Given the description of an element on the screen output the (x, y) to click on. 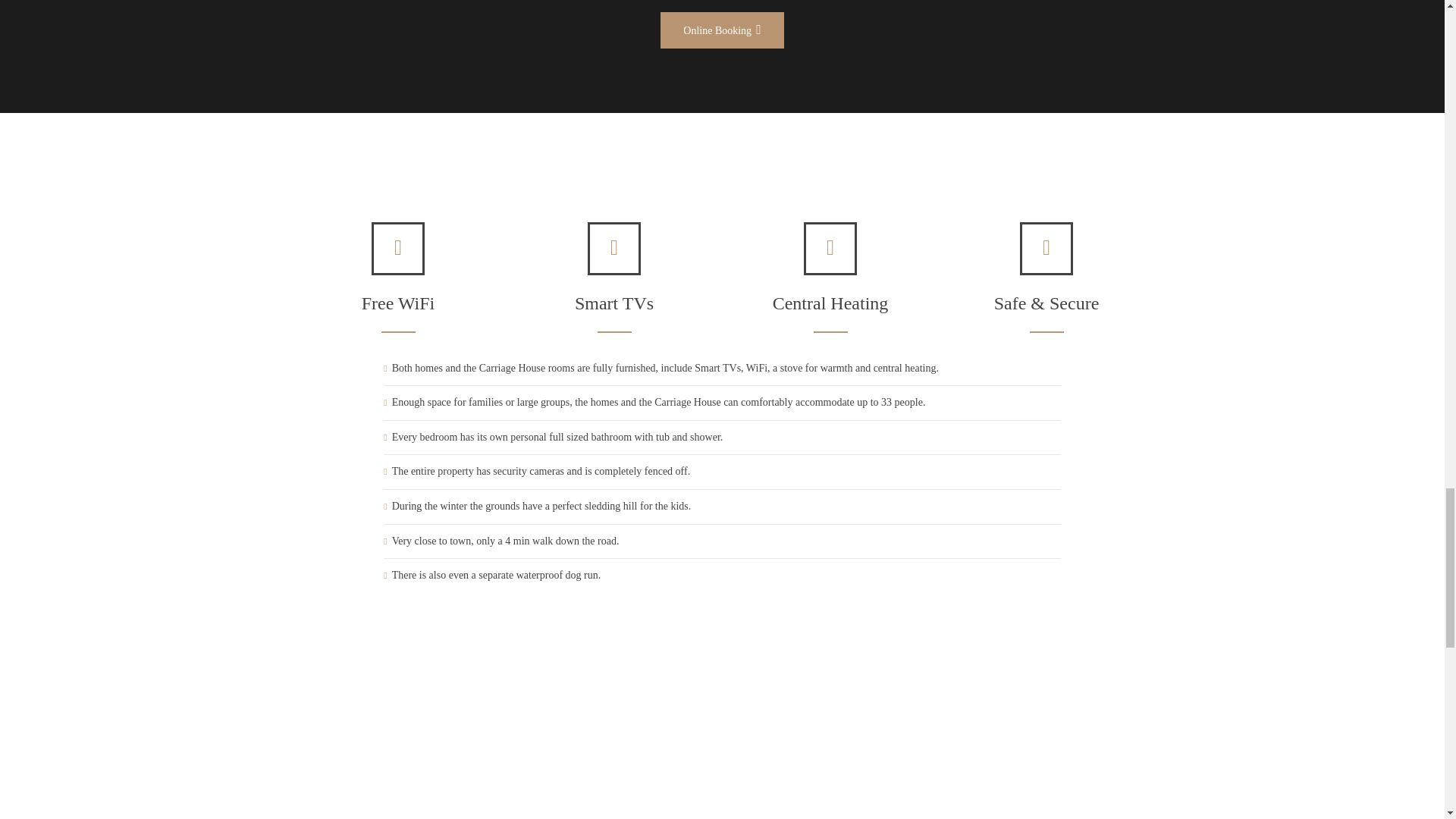
knickerbocker-slide-01-1280px (441, 814)
knickerbocker-basement-01-1280px (1285, 814)
Online Booking (722, 30)
knickerbocker-courtyard-06-1280px (1003, 814)
knickerbocker-playground-01-1280px (722, 814)
knickerbocker-basement-02-1280px (160, 814)
